Given the description of an element on the screen output the (x, y) to click on. 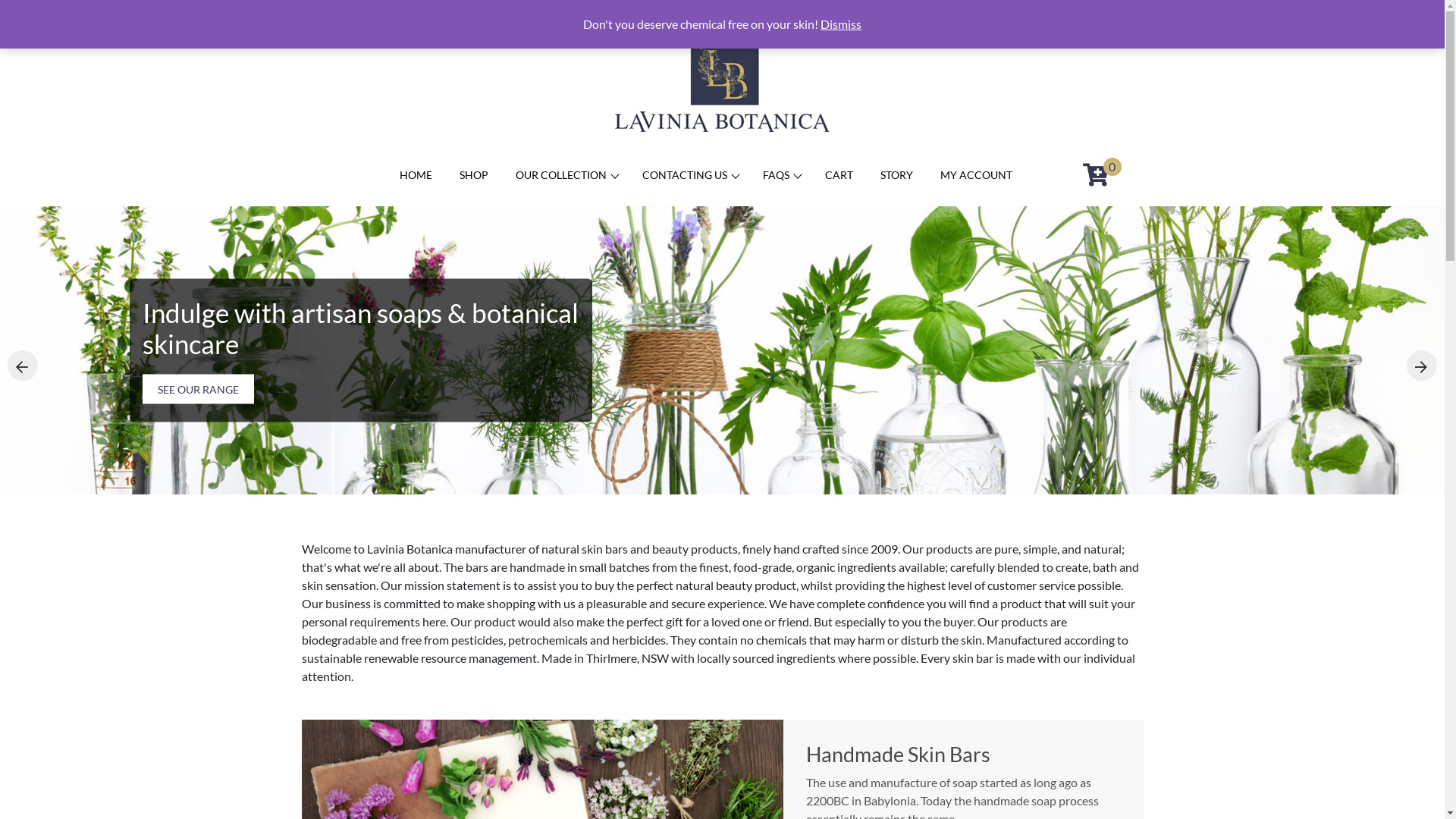
Next Element type: text (1421, 365)
SEE OUR RANGE Element type: text (198, 389)
OUR COLLECTION Element type: text (566, 184)
Dismiss Element type: text (840, 23)
FAQS Element type: text (781, 184)
STORY Element type: text (897, 184)
SHOP Element type: text (474, 184)
HOME Element type: text (416, 184)
CART Element type: text (840, 184)
MY ACCOUNT Element type: text (977, 184)
Previous Element type: text (22, 365)
CONTACTING US Element type: text (689, 184)
